Given the description of an element on the screen output the (x, y) to click on. 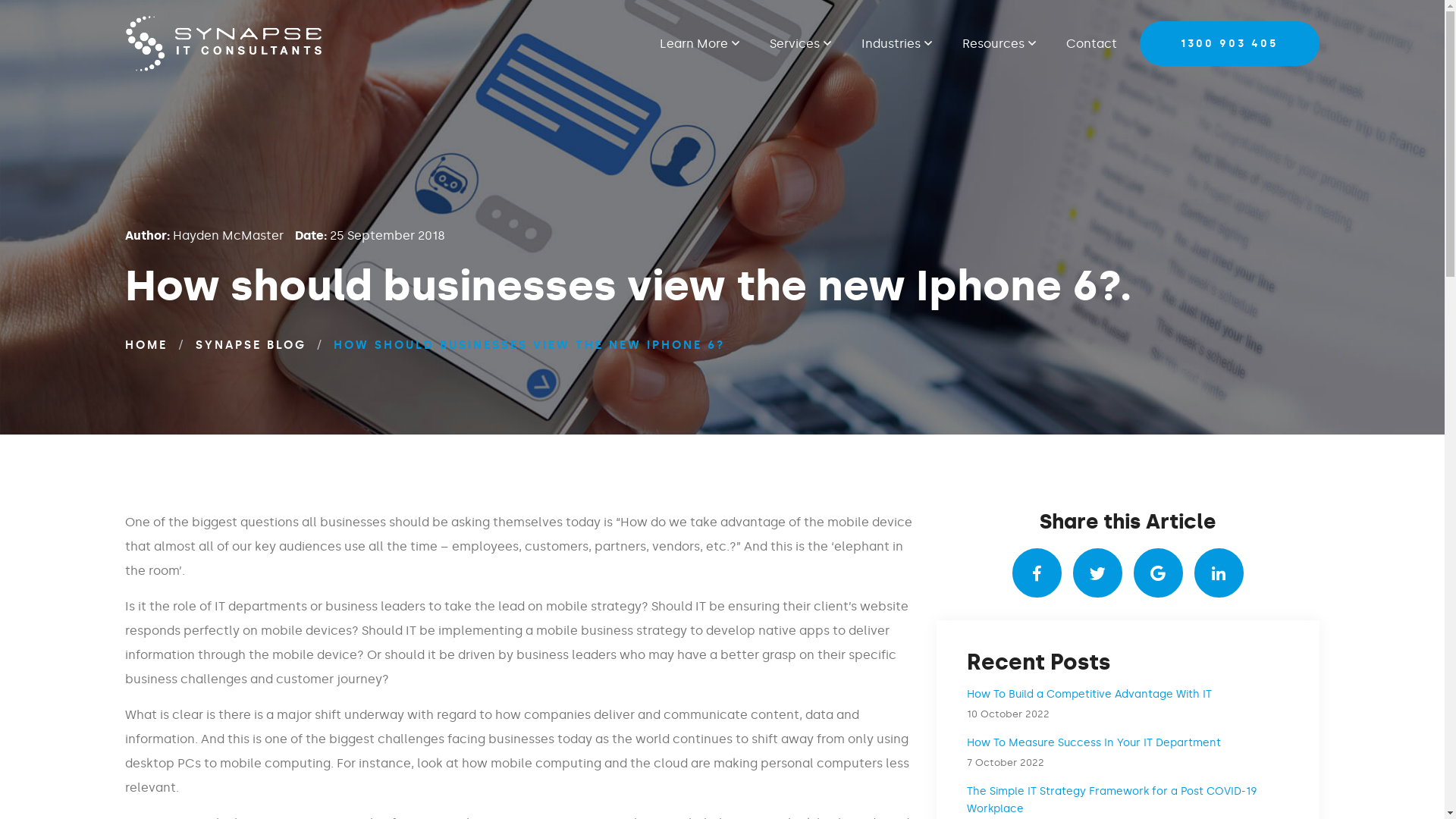
Resources Element type: text (998, 43)
Services Element type: text (799, 43)
Share On LinkedIn Element type: hover (1218, 572)
How To Measure Success In Your IT Department Element type: text (1093, 742)
1300 903 405 Element type: text (1228, 43)
Synapse IT Element type: hover (223, 43)
Industries Element type: text (896, 43)
Contact Element type: text (1084, 43)
How To Build a Competitive Advantage With IT Element type: text (1088, 693)
Share On Twitter Element type: hover (1097, 572)
Learn More Element type: text (706, 43)
Share On Facebook Element type: hover (1036, 572)
SYNAPSE BLOG Element type: text (250, 344)
Share On Google+ Element type: hover (1158, 572)
HOME Element type: text (146, 344)
